Given the description of an element on the screen output the (x, y) to click on. 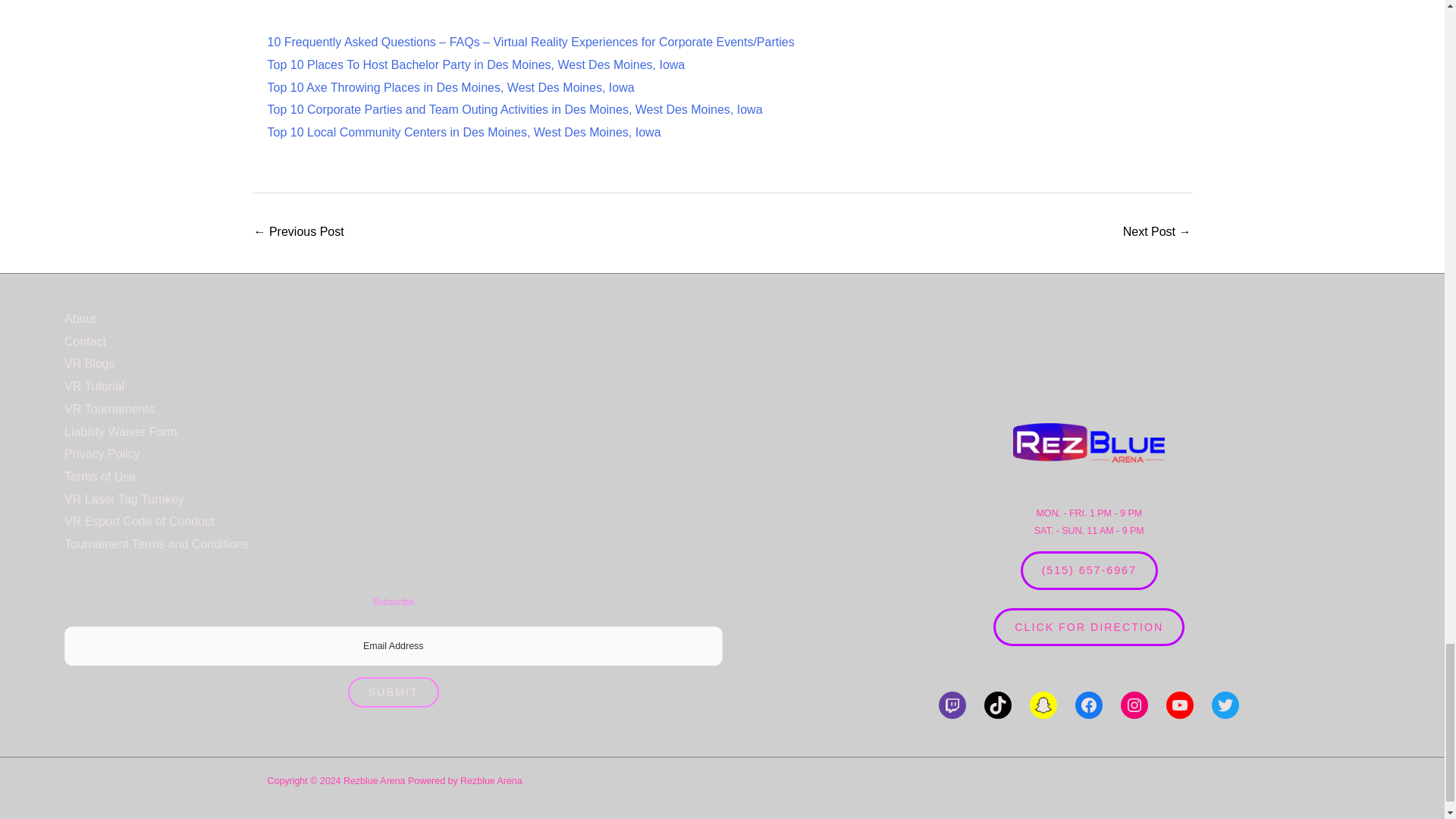
Top 10 Bowling Alleys in Des Moines, West Des Moines, Iowa (298, 233)
Submit (393, 692)
Top 10 Escape Rooms in Des Moines, West Des Moines, Iowa (1156, 233)
